Given the description of an element on the screen output the (x, y) to click on. 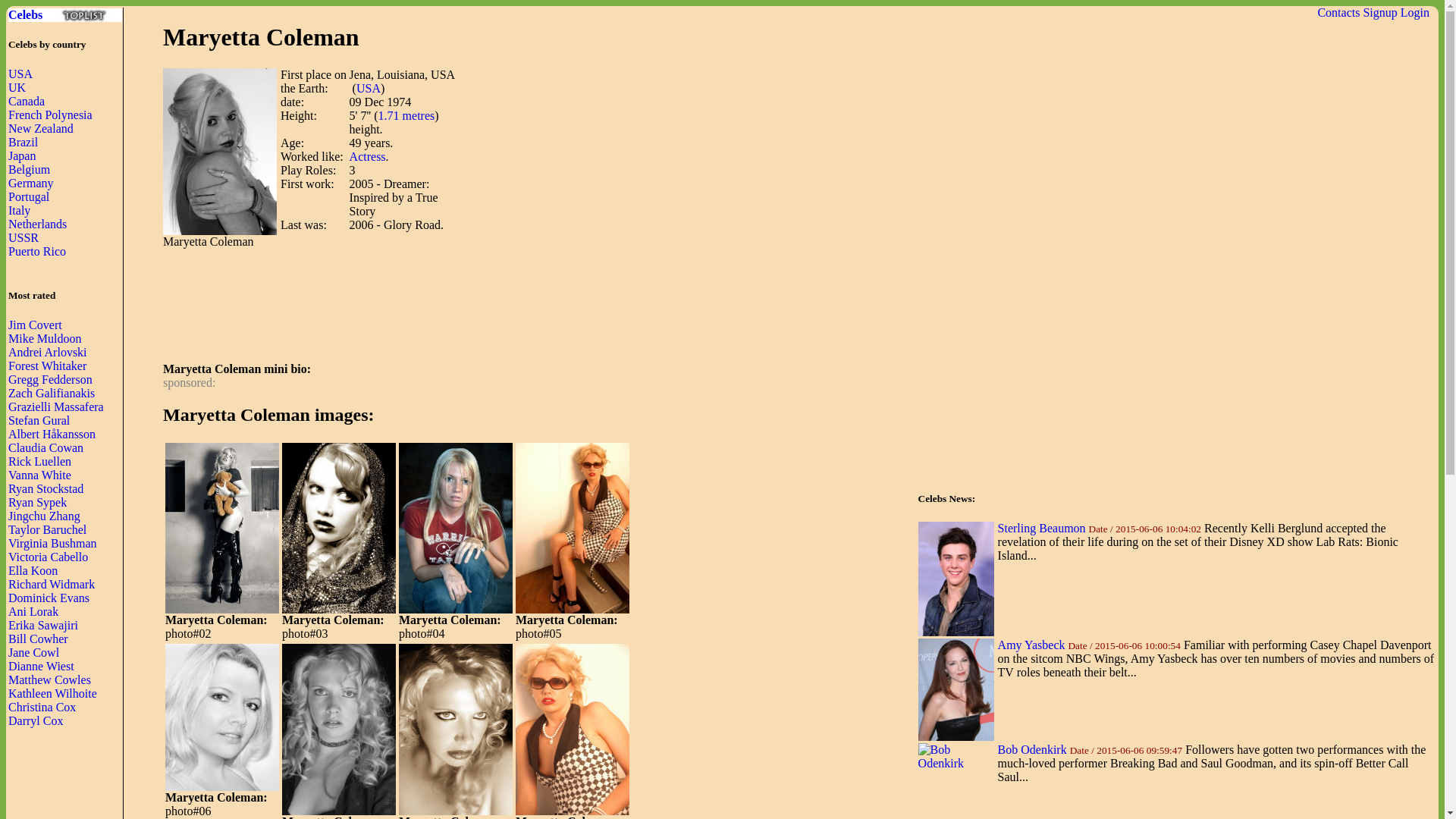
Jim Covert (35, 324)
Italy (19, 210)
Virginia Bushman (52, 543)
Andrei Arlovski (47, 351)
USA (20, 73)
Mike Muldoon (44, 338)
Netherlands (37, 223)
Forest Whitaker (46, 365)
Japan (21, 155)
Canada (26, 101)
